Given the description of an element on the screen output the (x, y) to click on. 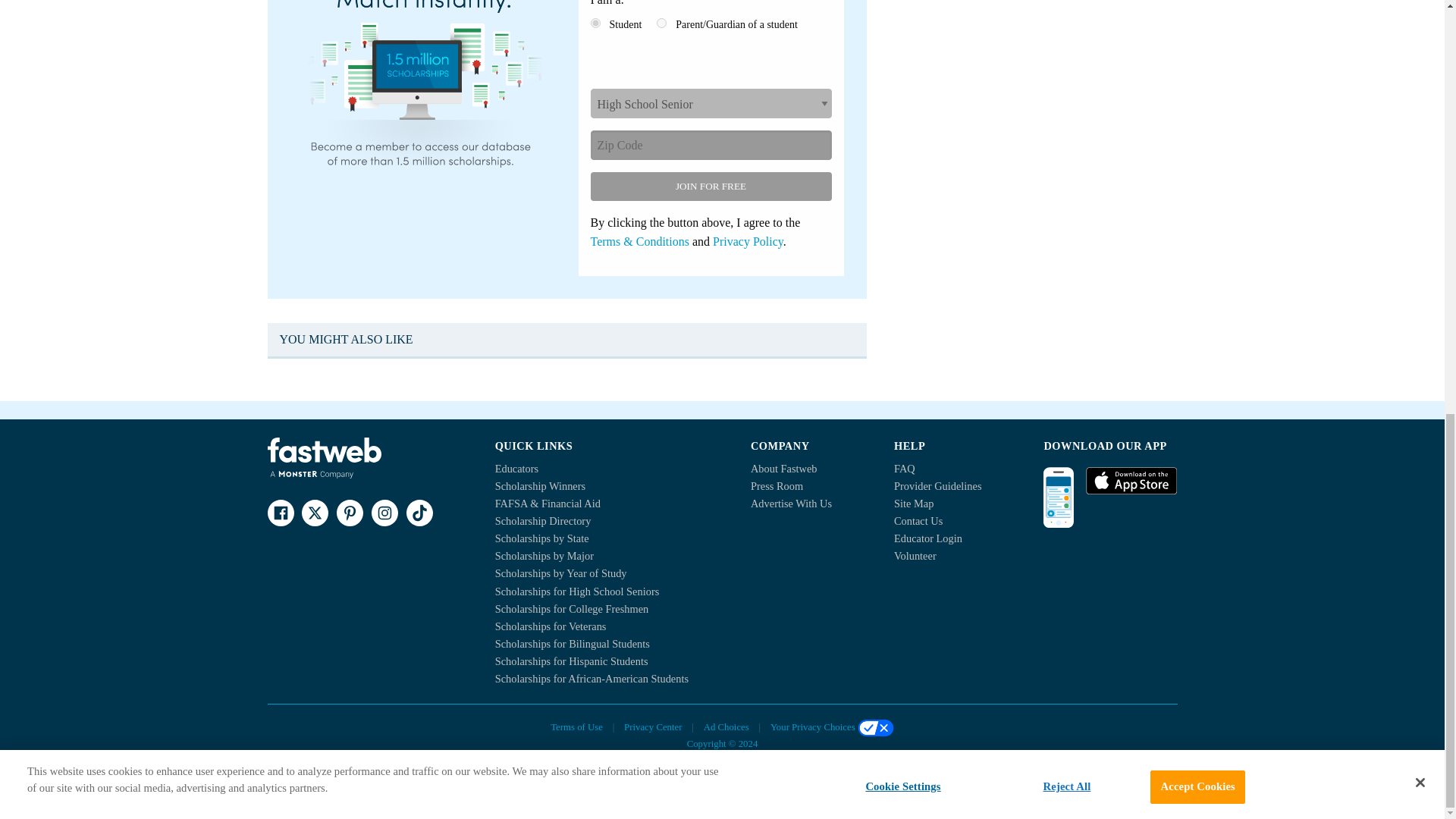
Fastweb on IOS (1131, 480)
Fastweb on Instagram (384, 512)
Fastweb on TikTok (419, 512)
Join for free (710, 185)
2 (661, 22)
Fastweb on Pinterest (349, 512)
1 (594, 22)
Fastweb on Facebook (280, 512)
